Given the description of an element on the screen output the (x, y) to click on. 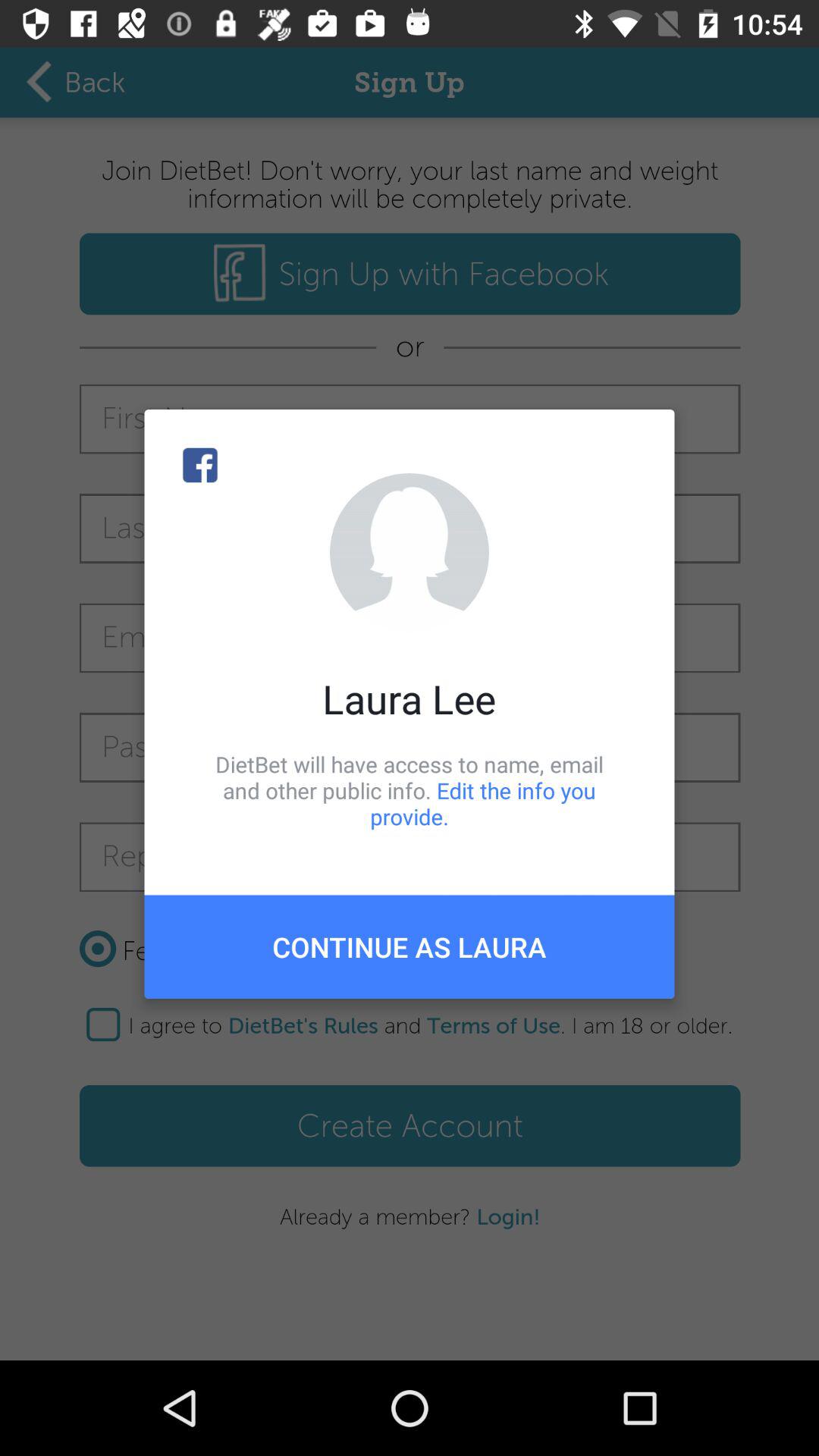
press item above continue as laura item (409, 790)
